Given the description of an element on the screen output the (x, y) to click on. 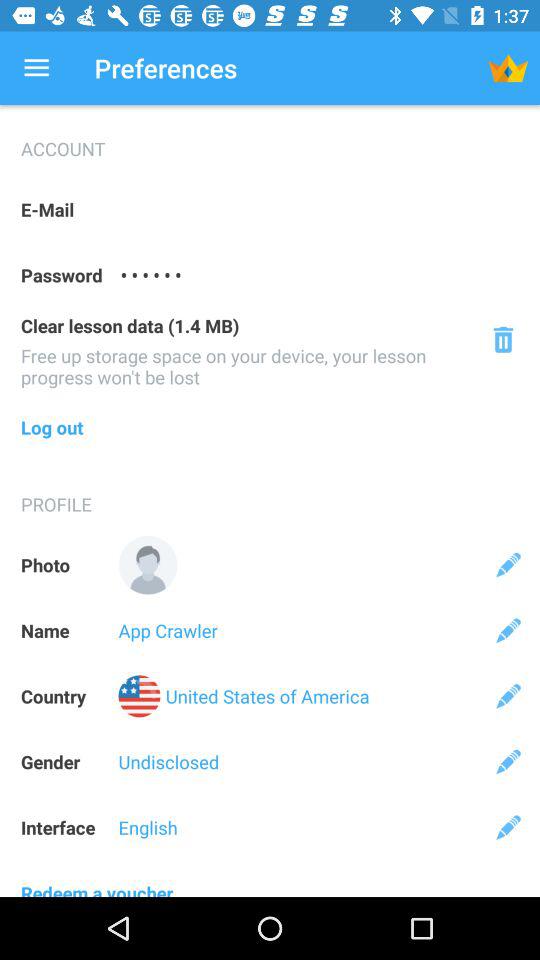
open app to the left of the preferences app (36, 68)
